Given the description of an element on the screen output the (x, y) to click on. 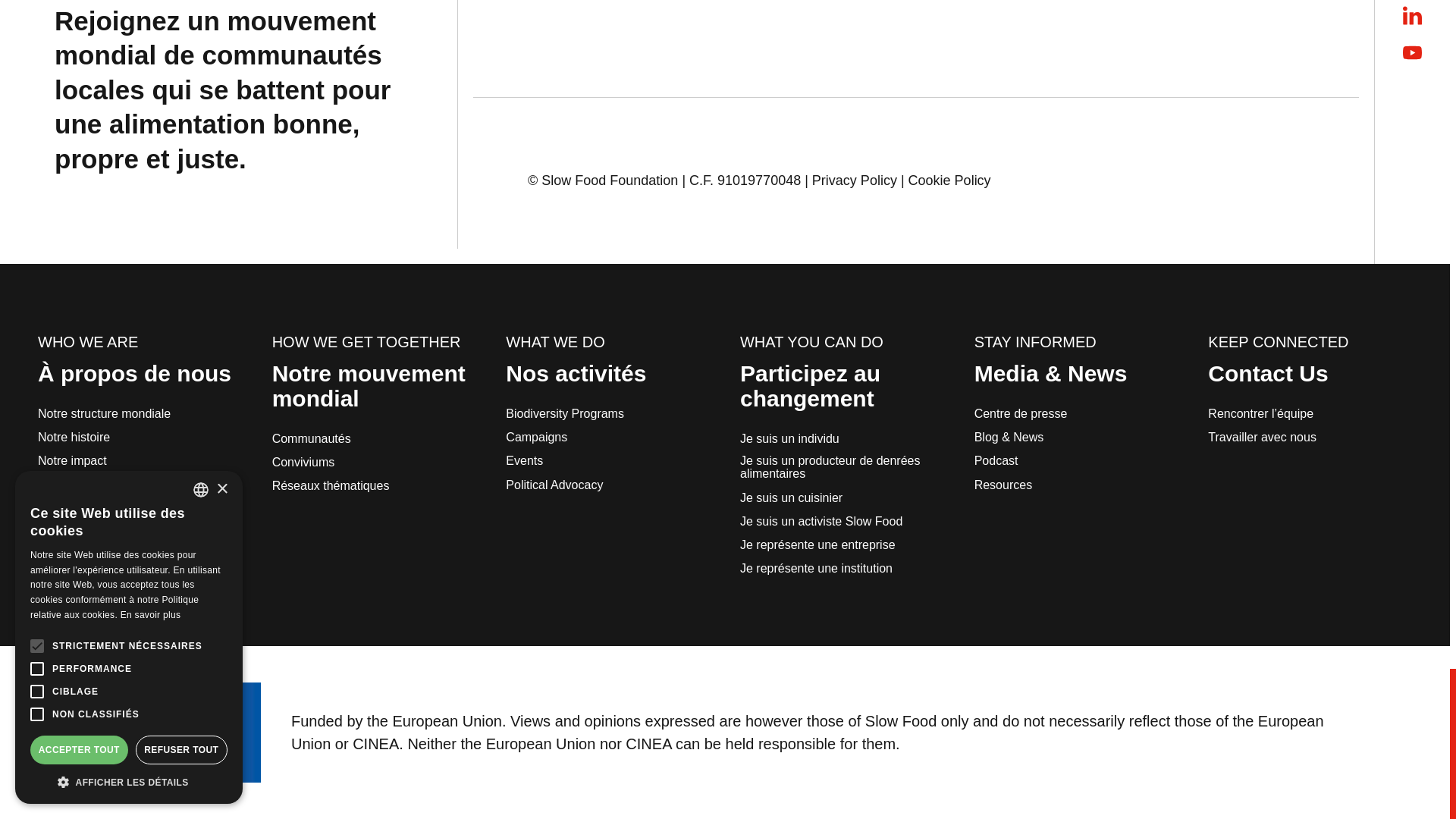
Privacy Policy (854, 180)
Cookie Policy (949, 180)
